Given the description of an element on the screen output the (x, y) to click on. 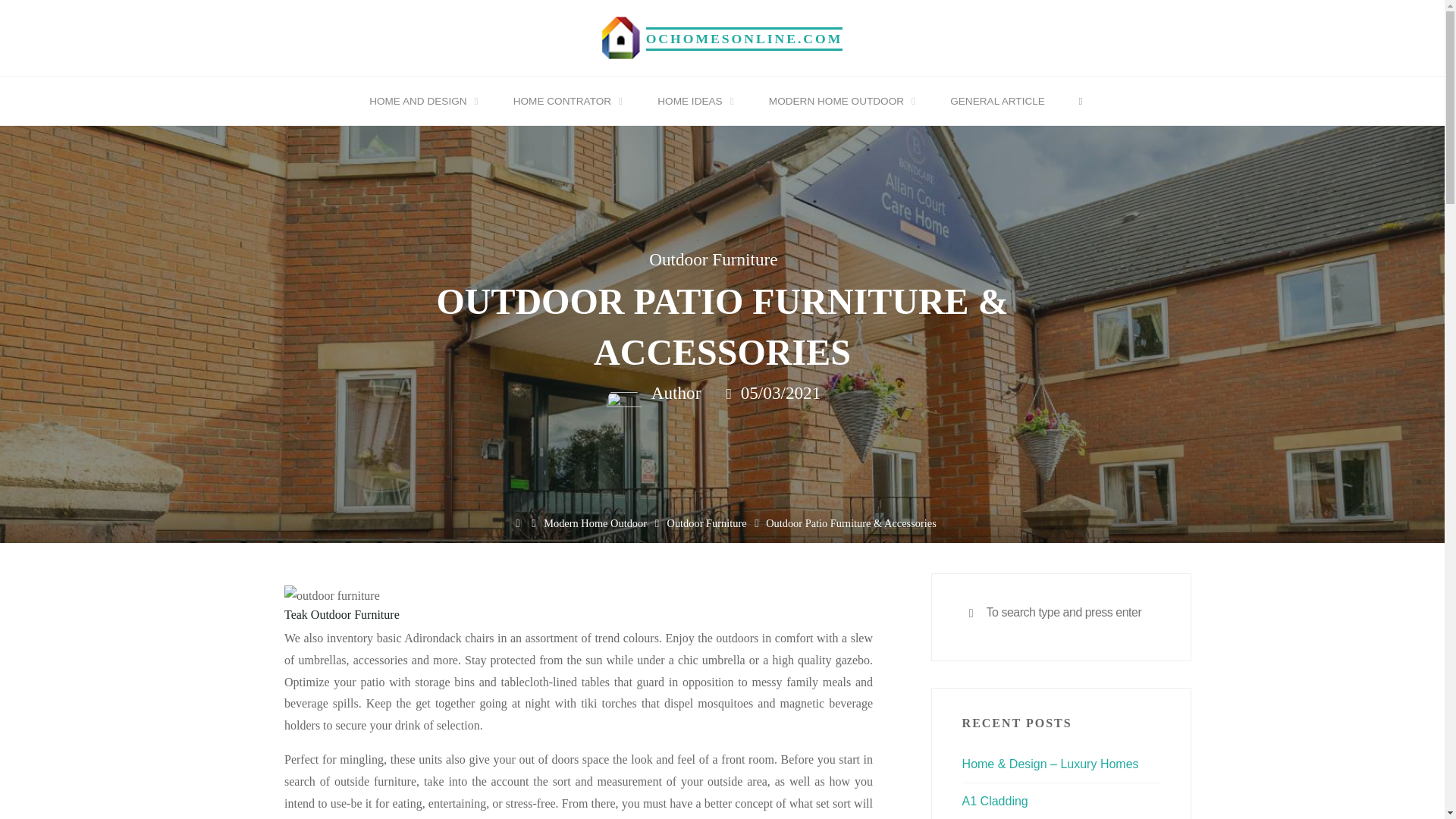
HOME AND DESIGN (421, 101)
Home (517, 522)
Date (729, 393)
View all posts by Author (673, 393)
ochomesonline.com (621, 36)
OCHOMESONLINE.COM (744, 38)
Improving Home Value (744, 38)
